Given the description of an element on the screen output the (x, y) to click on. 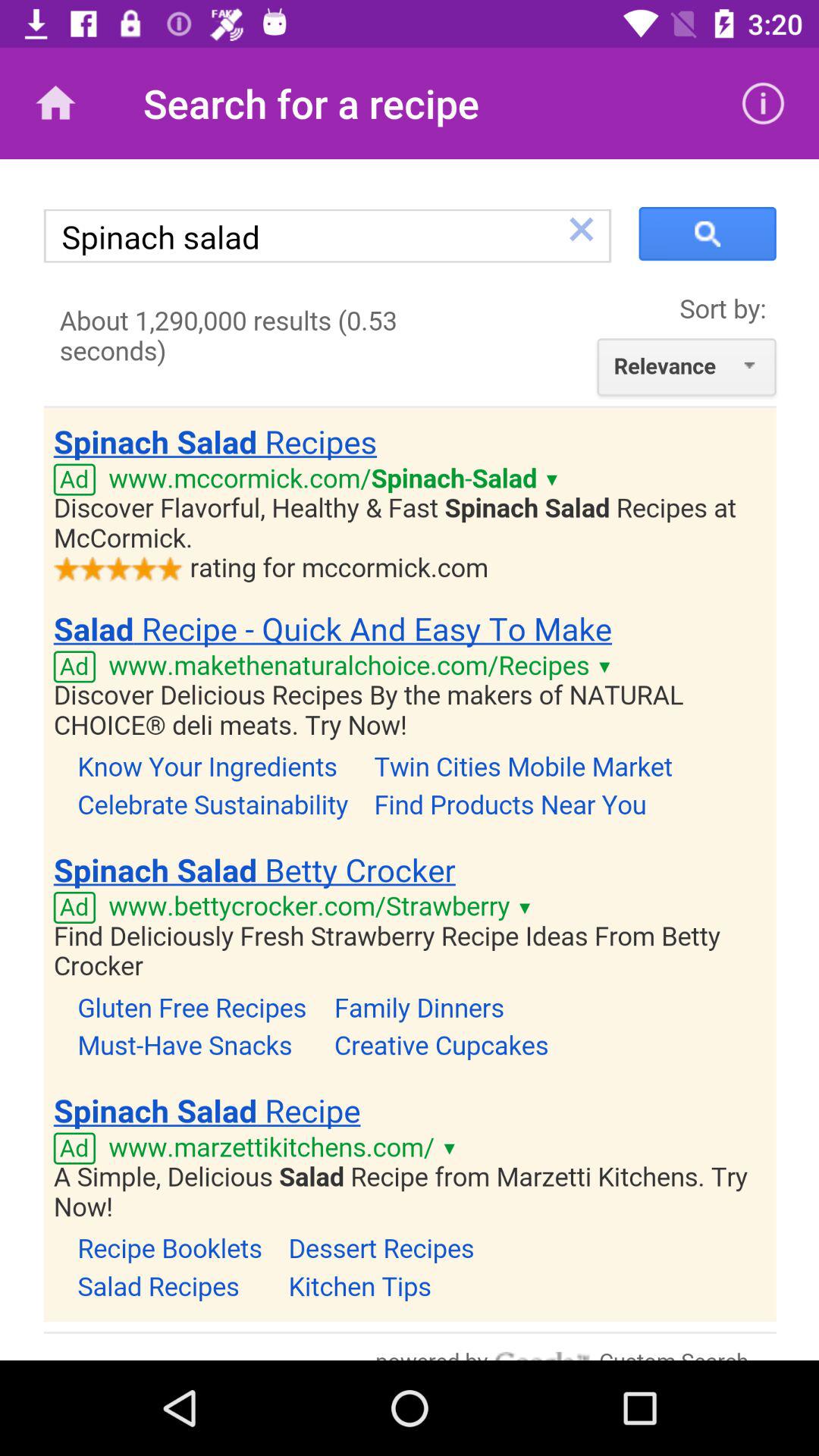
enlarge the page (409, 759)
